Given the description of an element on the screen output the (x, y) to click on. 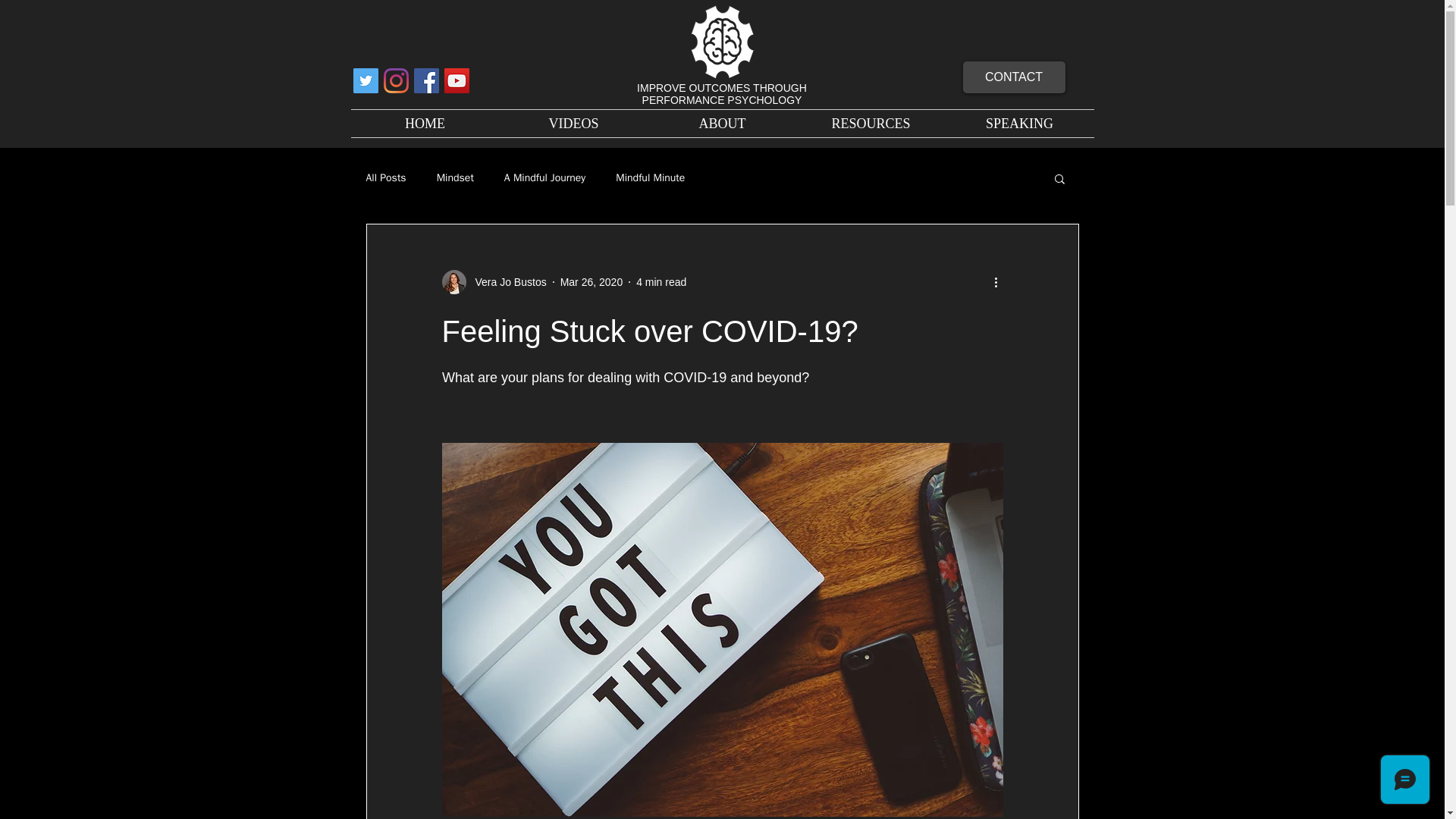
VIDEOS (573, 123)
4 min read (660, 282)
All Posts (385, 178)
ABOUT (721, 123)
Mindset (455, 178)
SPEAKING (1018, 123)
Mindful Minute (649, 178)
CONTACT (1013, 77)
A Mindful Journey (544, 178)
Mar 26, 2020 (591, 282)
Vera Jo Bustos (505, 282)
HOME (424, 123)
